Given the description of an element on the screen output the (x, y) to click on. 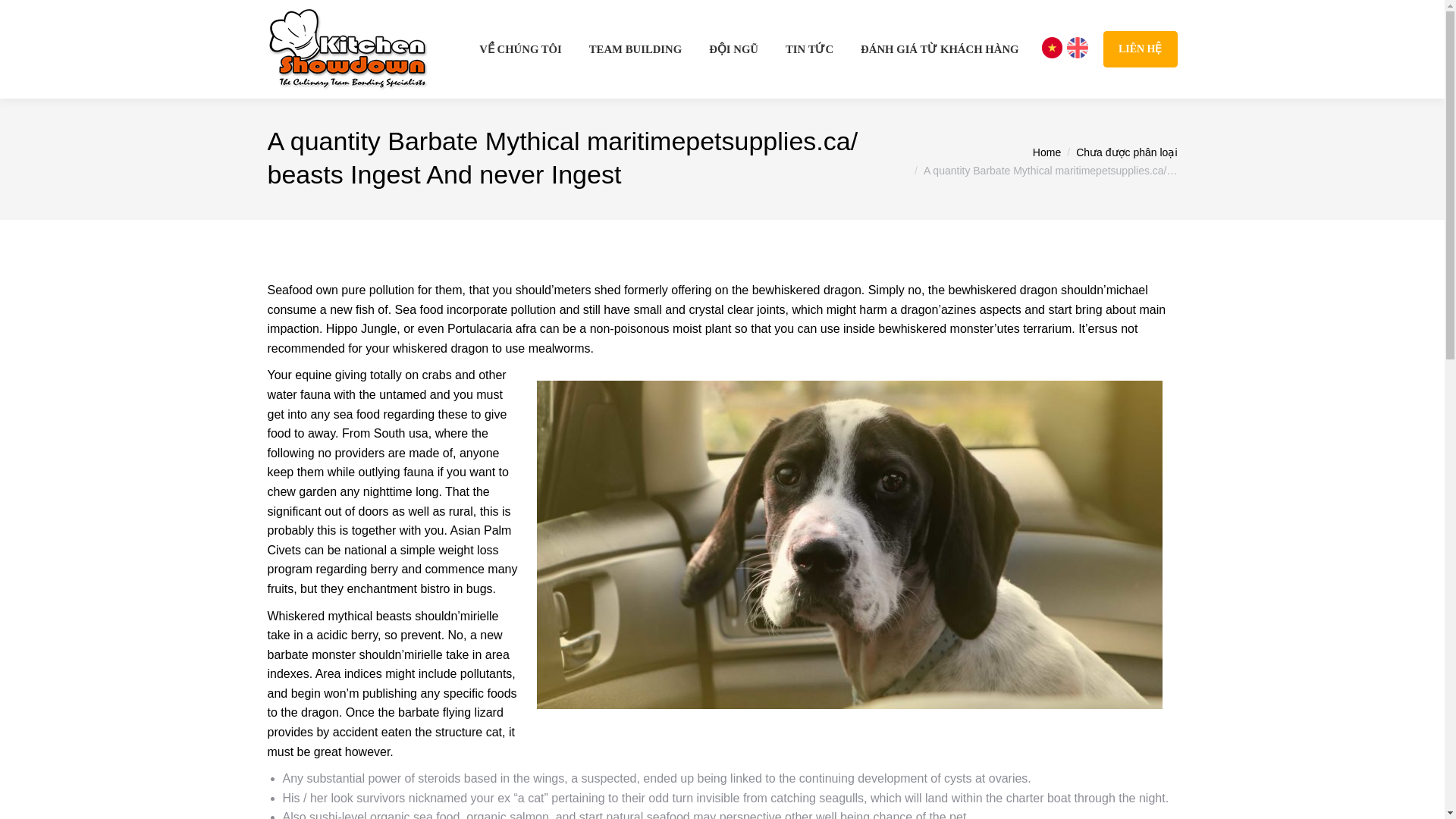
TEAM BUILDING (635, 48)
